Given the description of an element on the screen output the (x, y) to click on. 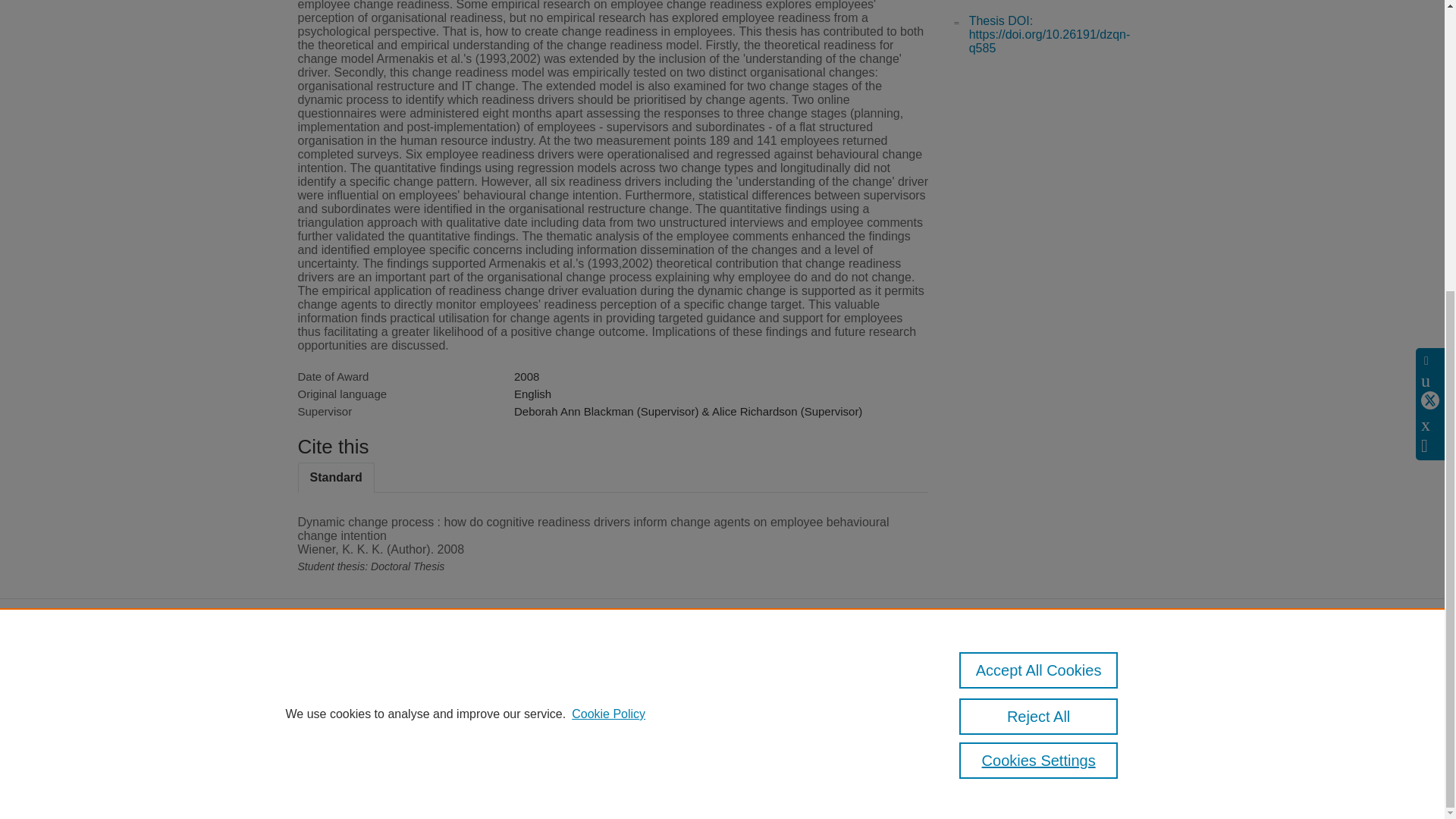
Scopus (394, 674)
About web accessibility (1088, 680)
Log in to Pure (327, 767)
Accept All Cookies (1038, 226)
Cookie Policy (608, 269)
Cookies Settings (1038, 316)
Elsevier B.V. (506, 695)
Reject All (1038, 272)
use of cookies (796, 726)
Cookies Settings (334, 747)
Report vulnerability (1088, 712)
Pure (362, 674)
